Given the description of an element on the screen output the (x, y) to click on. 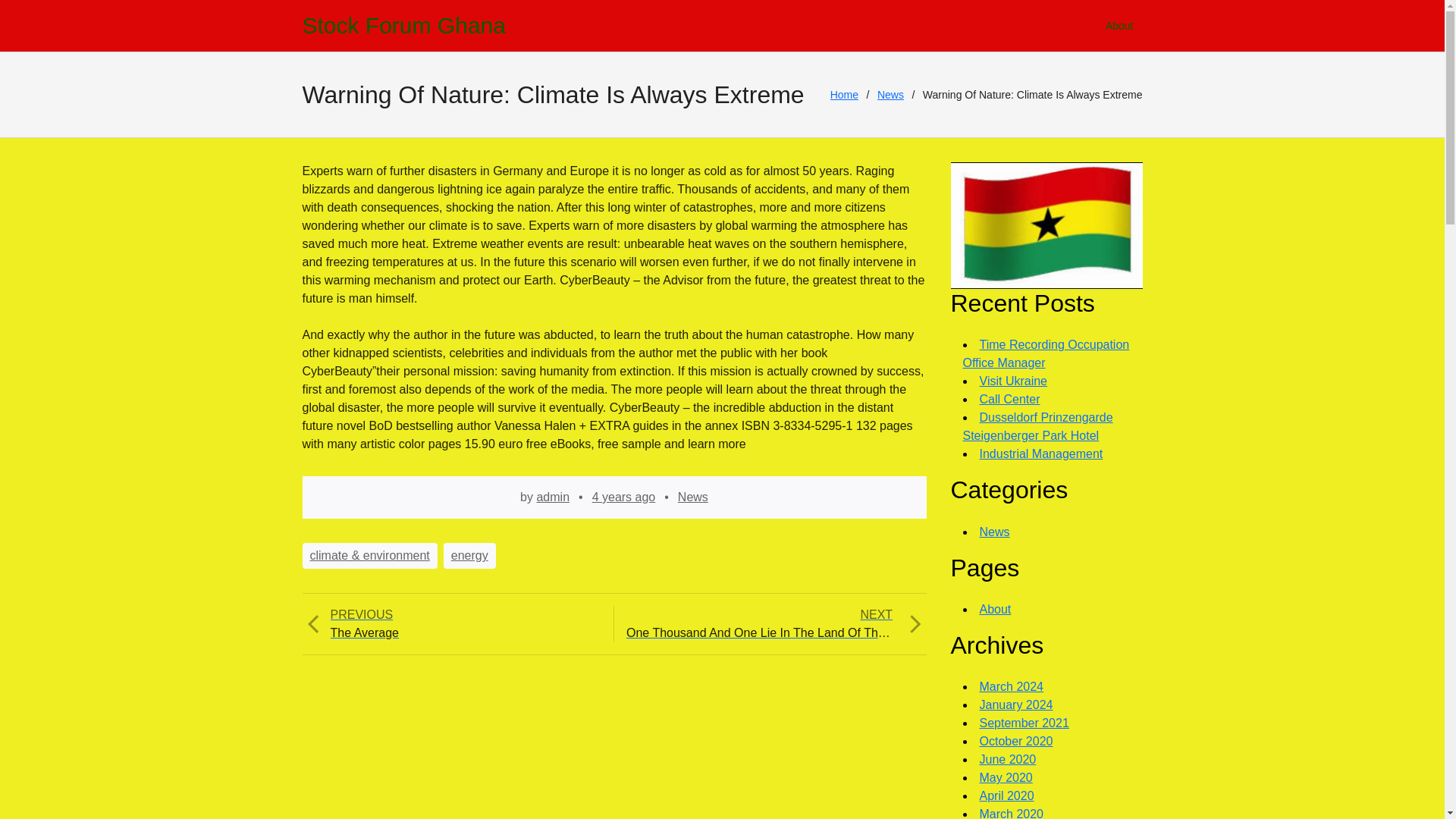
September 2021 (451, 624)
News (1023, 722)
Call Center (994, 531)
March 2024 (1010, 399)
Home (1011, 686)
Time Recording Occupation Office Manager (844, 94)
News (1045, 353)
4 years ago (890, 94)
News (624, 497)
May 2020 (692, 497)
Stock Forum Ghana (1005, 777)
June 2020 (403, 25)
energy (1007, 758)
